Given the description of an element on the screen output the (x, y) to click on. 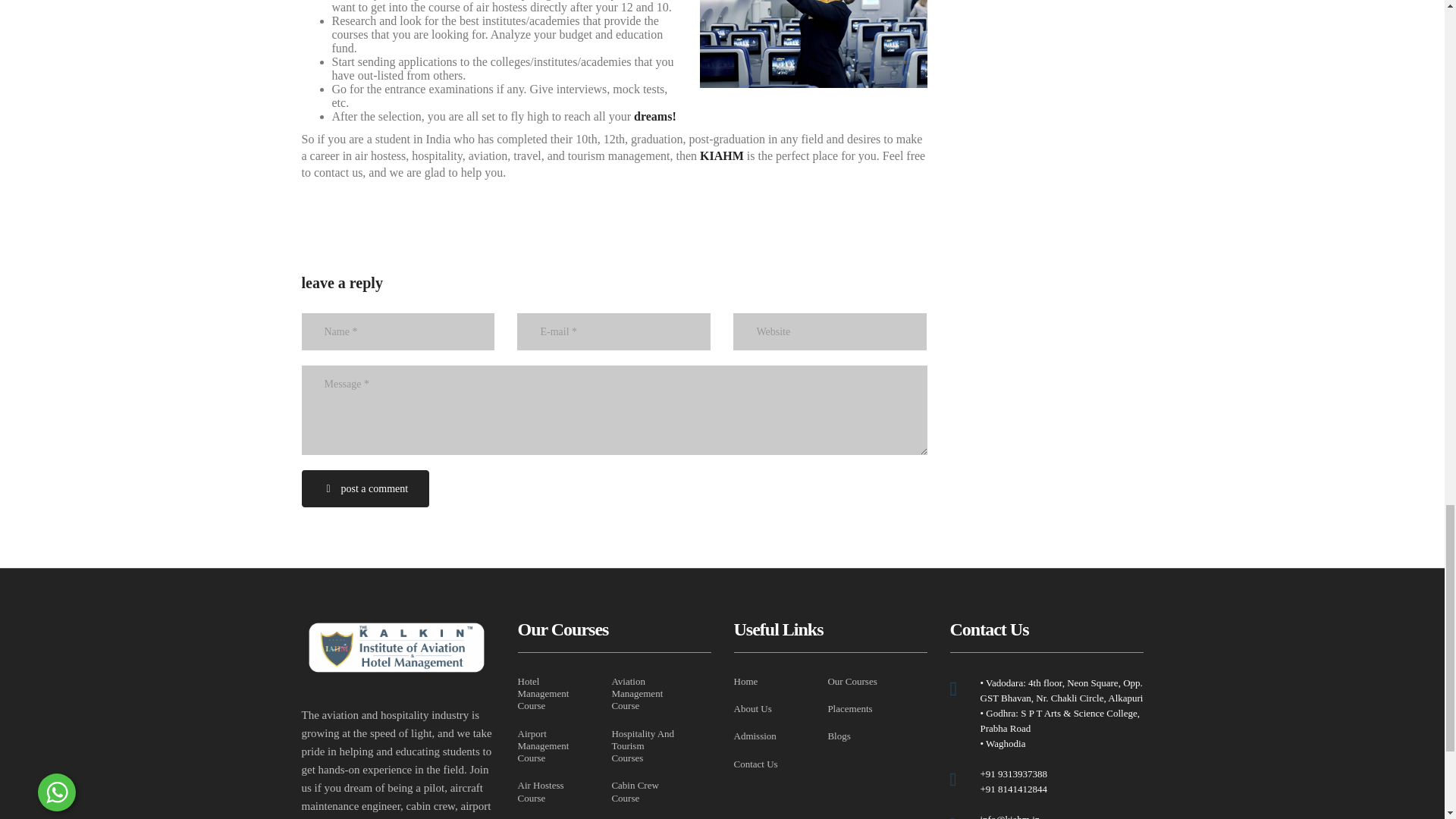
About Us (752, 708)
Hotel Management Course (548, 693)
Hospitality And Tourism Courses (643, 746)
Our Courses (851, 681)
Airport Management Course (548, 746)
Air Hostess Course (548, 791)
dreams!  (656, 115)
Home (745, 681)
post a comment (365, 488)
Admission (754, 736)
